Given the description of an element on the screen output the (x, y) to click on. 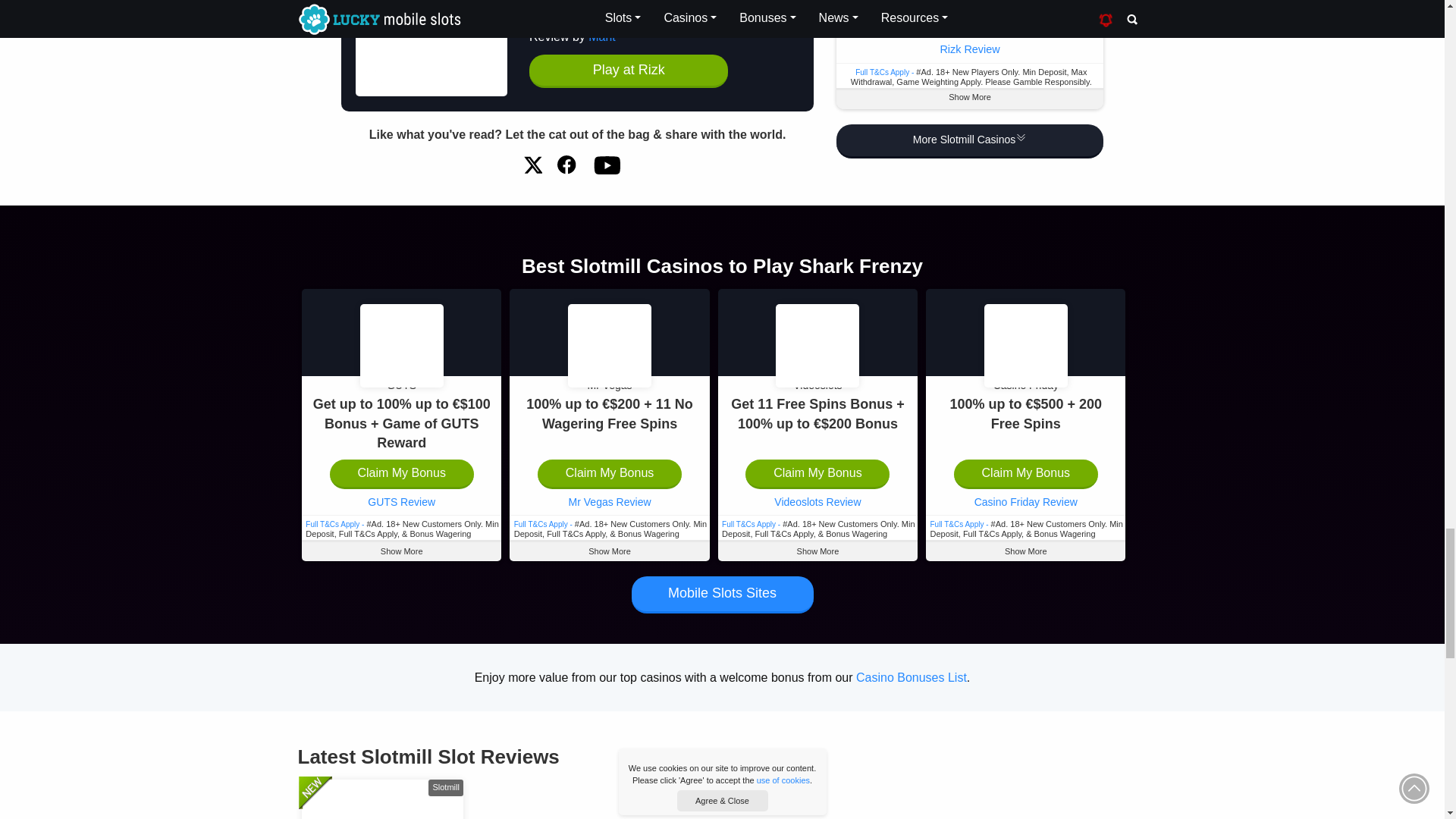
LMS Slot Videos (606, 164)
Tweet it Feline Friend! (531, 164)
Share The Wealth (566, 164)
